Given the description of an element on the screen output the (x, y) to click on. 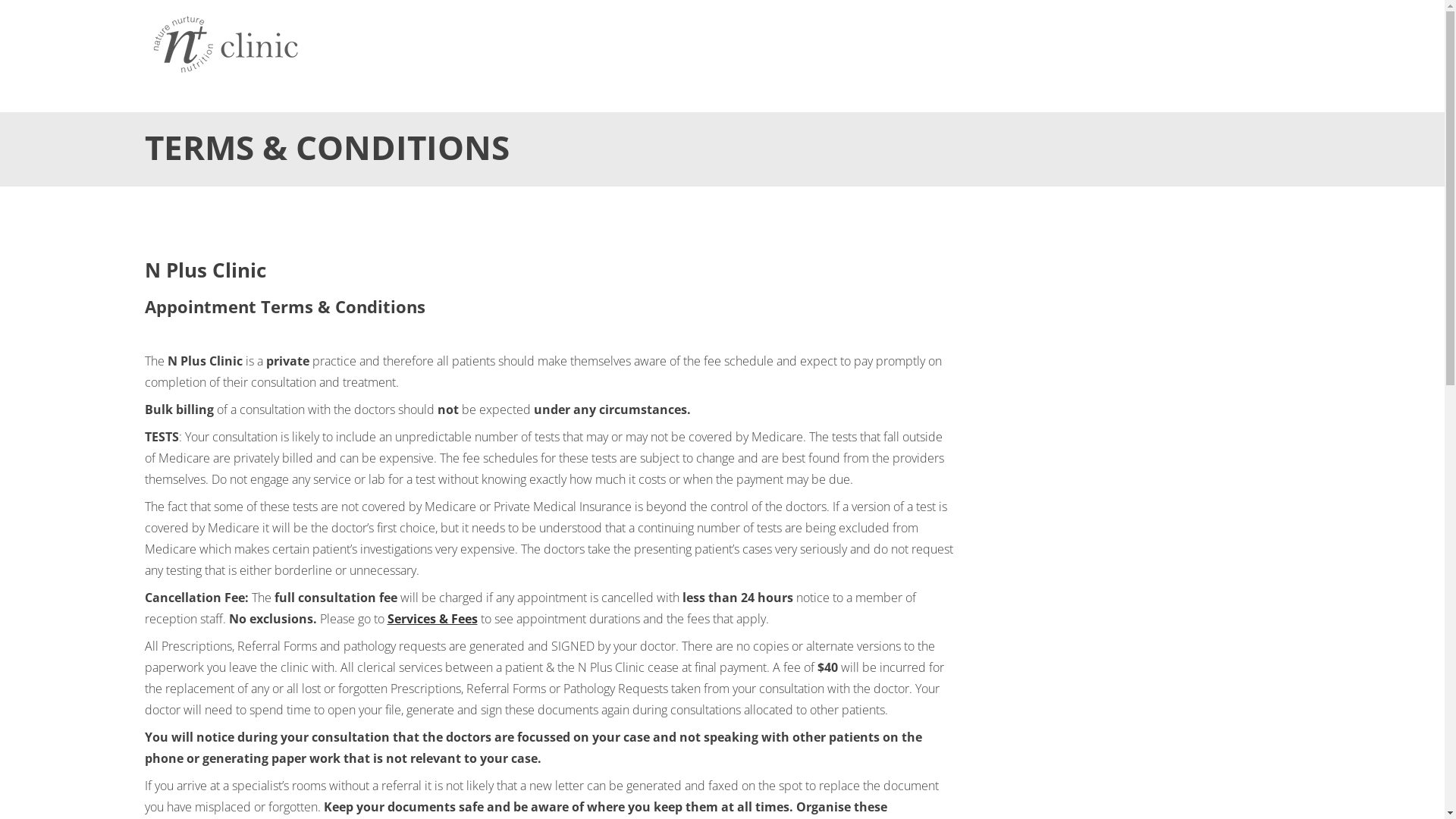
Services & Fees Element type: text (431, 618)
